Given the description of an element on the screen output the (x, y) to click on. 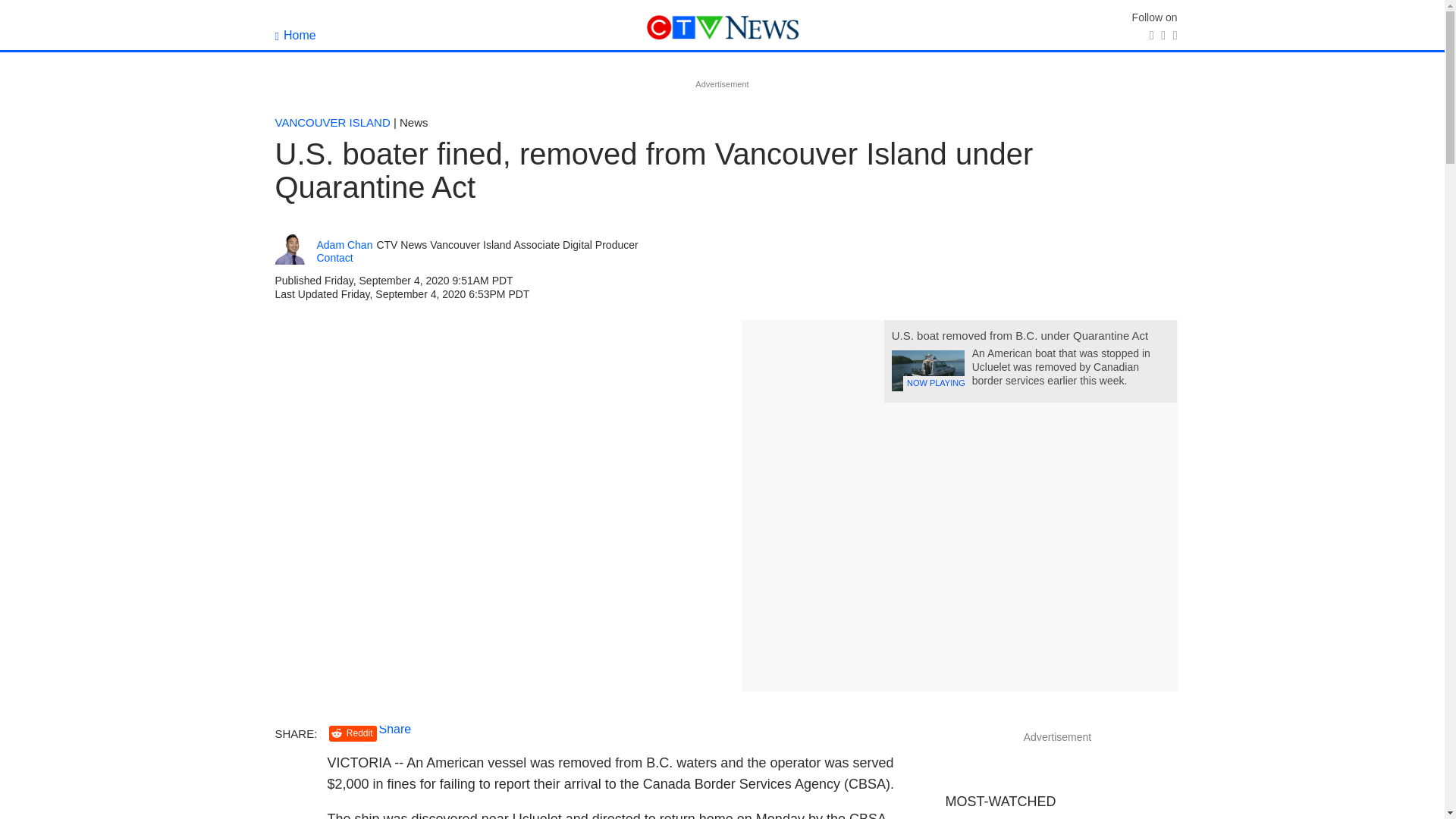
Share (395, 728)
Adam Chan (344, 245)
VANCOUVER ISLAND (332, 122)
Reddit (353, 733)
Home (295, 34)
  NOW PLAYING (927, 370)
U.S. boat removed from B.C. under Quarantine Act (1019, 335)
Contact (335, 257)
